Given the description of an element on the screen output the (x, y) to click on. 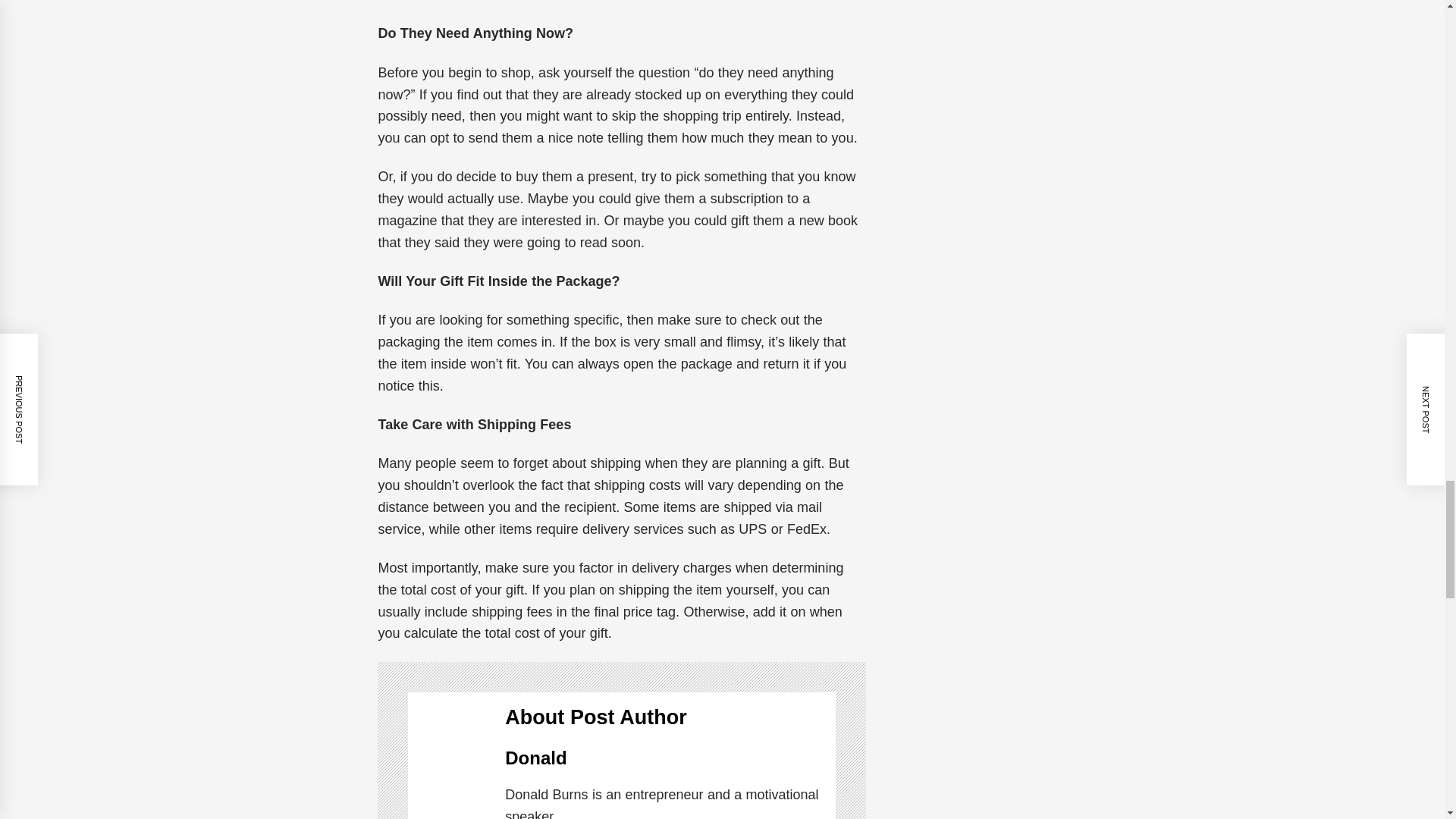
Donald (535, 757)
